Given the description of an element on the screen output the (x, y) to click on. 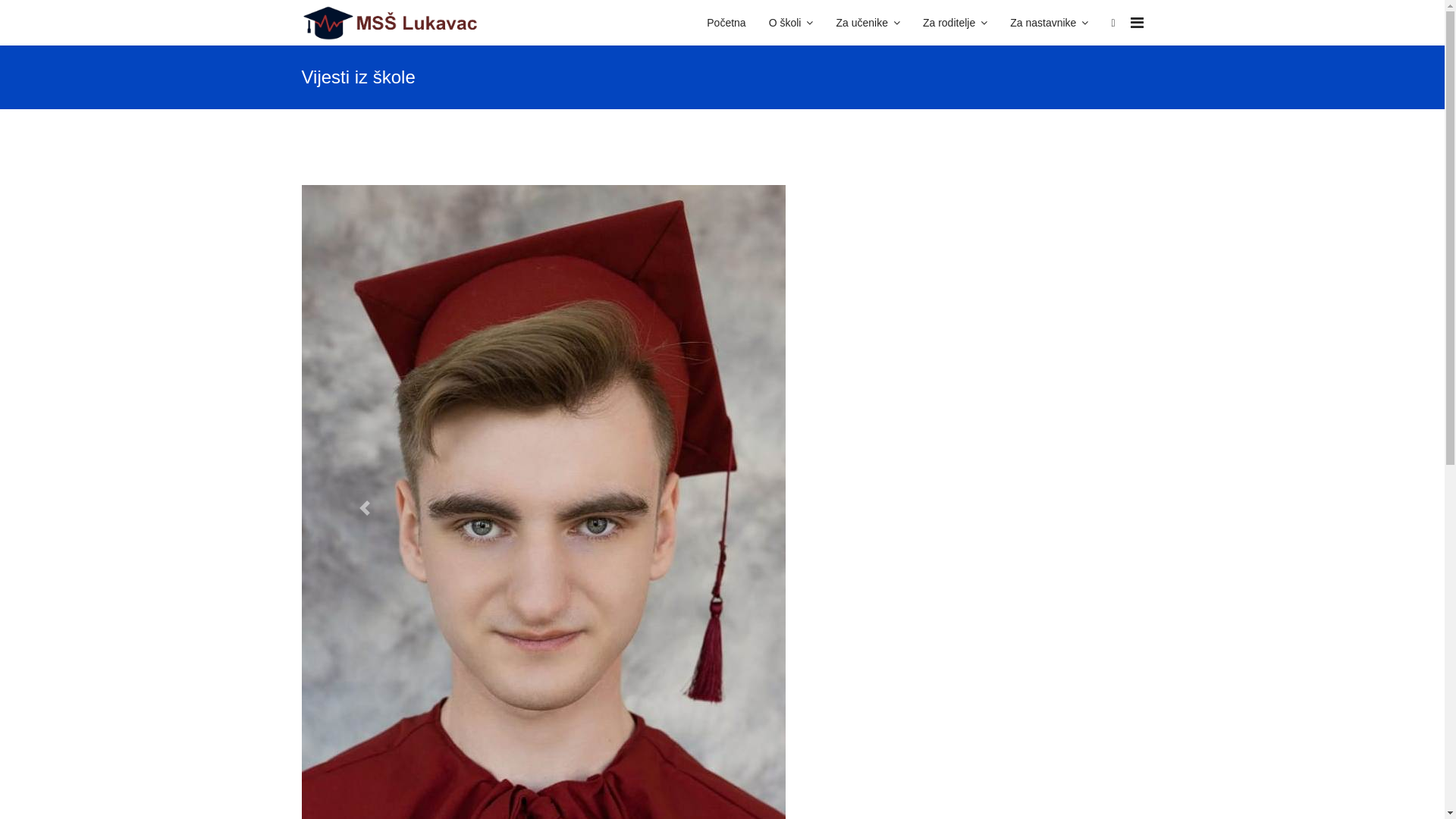
Za nastavnike Element type: text (1048, 22)
Za roditelje Element type: text (954, 22)
Navigation Element type: hover (1135, 22)
